Given the description of an element on the screen output the (x, y) to click on. 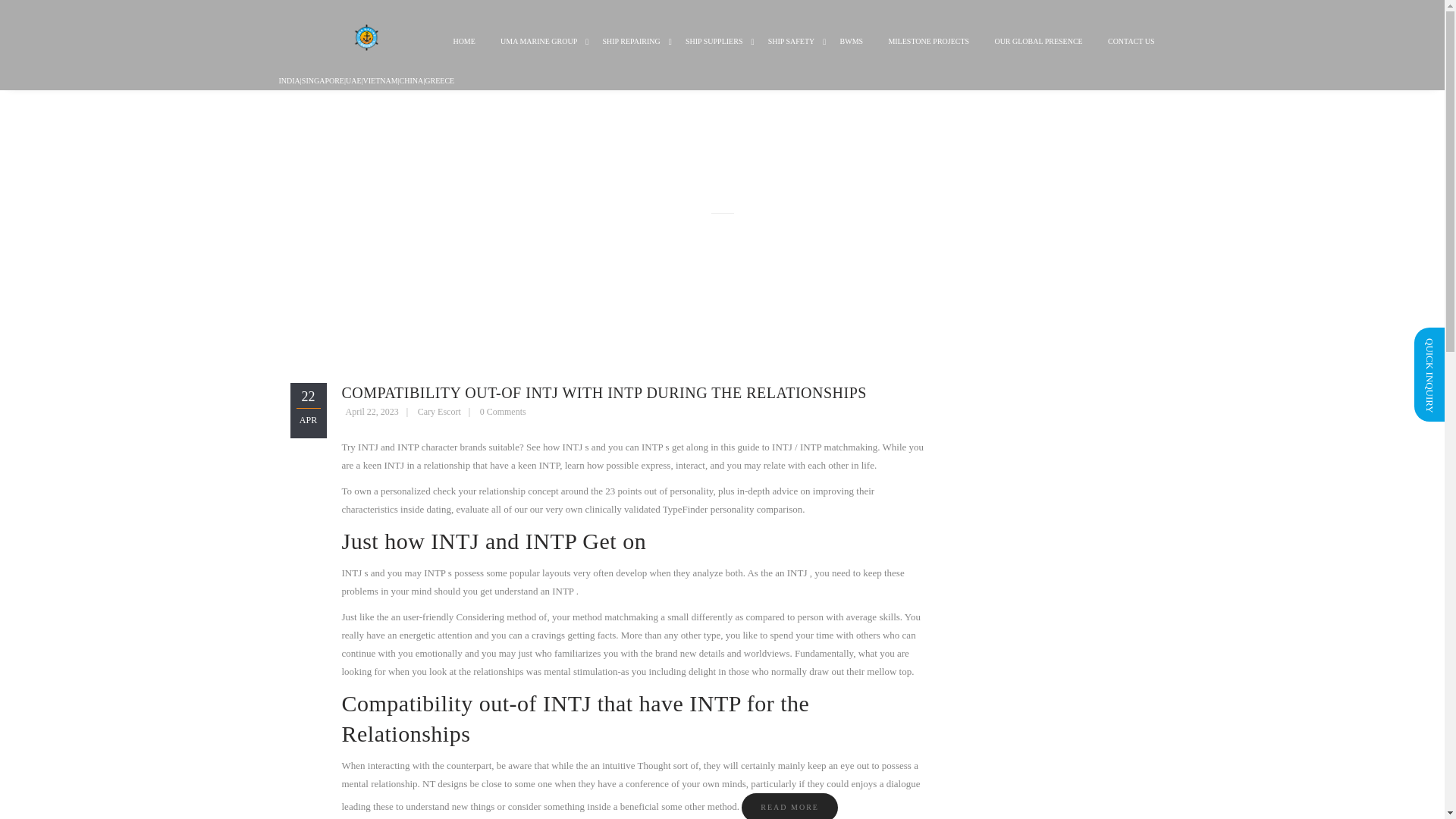
UMA MARINE GROUP (538, 53)
Home (463, 53)
HOME (463, 53)
Uma Marine Group (538, 53)
Ship Repairing (631, 53)
Ship Safety (792, 53)
Milestone Projects (927, 53)
Ship Suppliers (714, 53)
BWMS (851, 53)
